Given the description of an element on the screen output the (x, y) to click on. 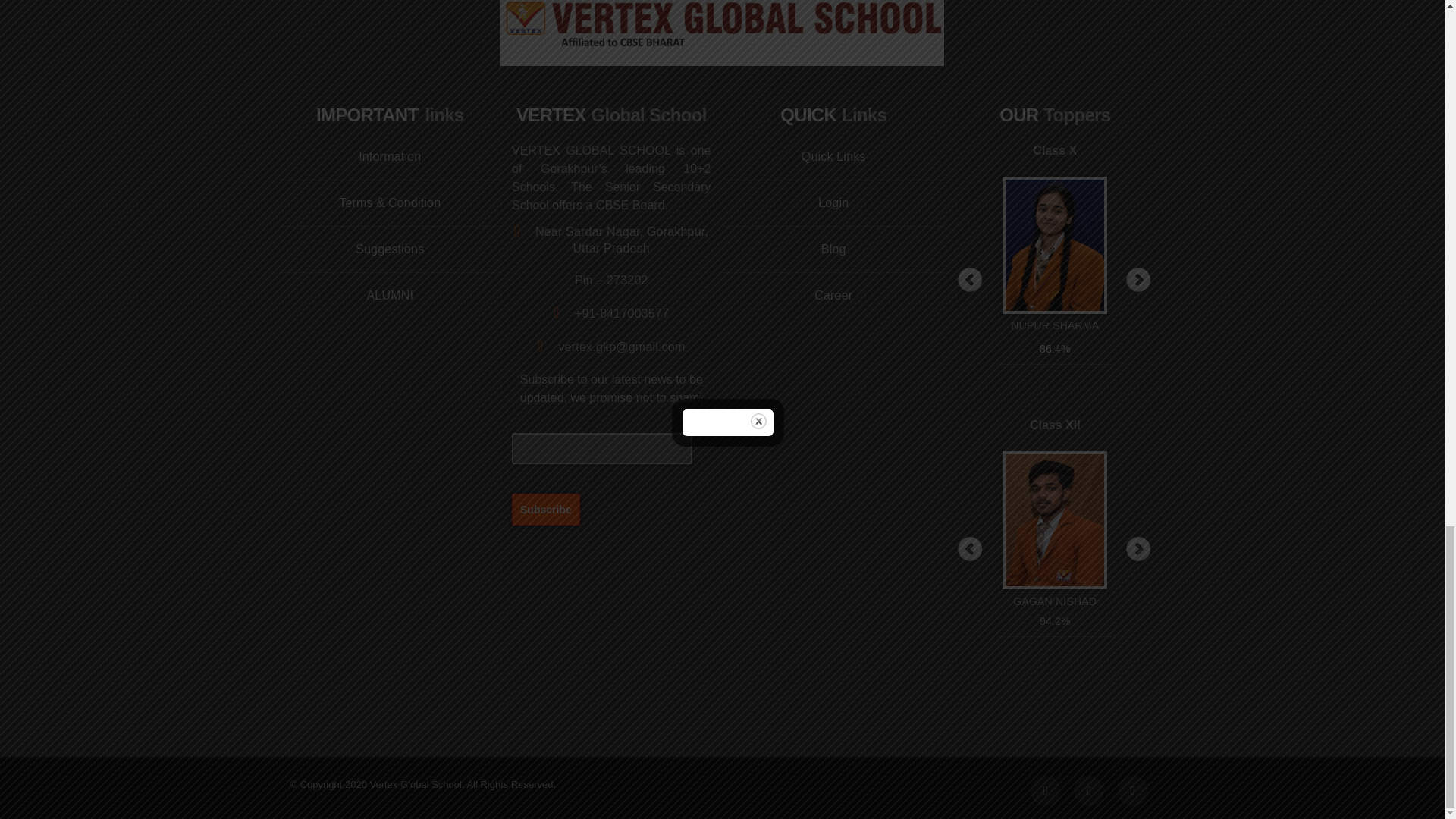
Subscribe (545, 508)
